Given the description of an element on the screen output the (x, y) to click on. 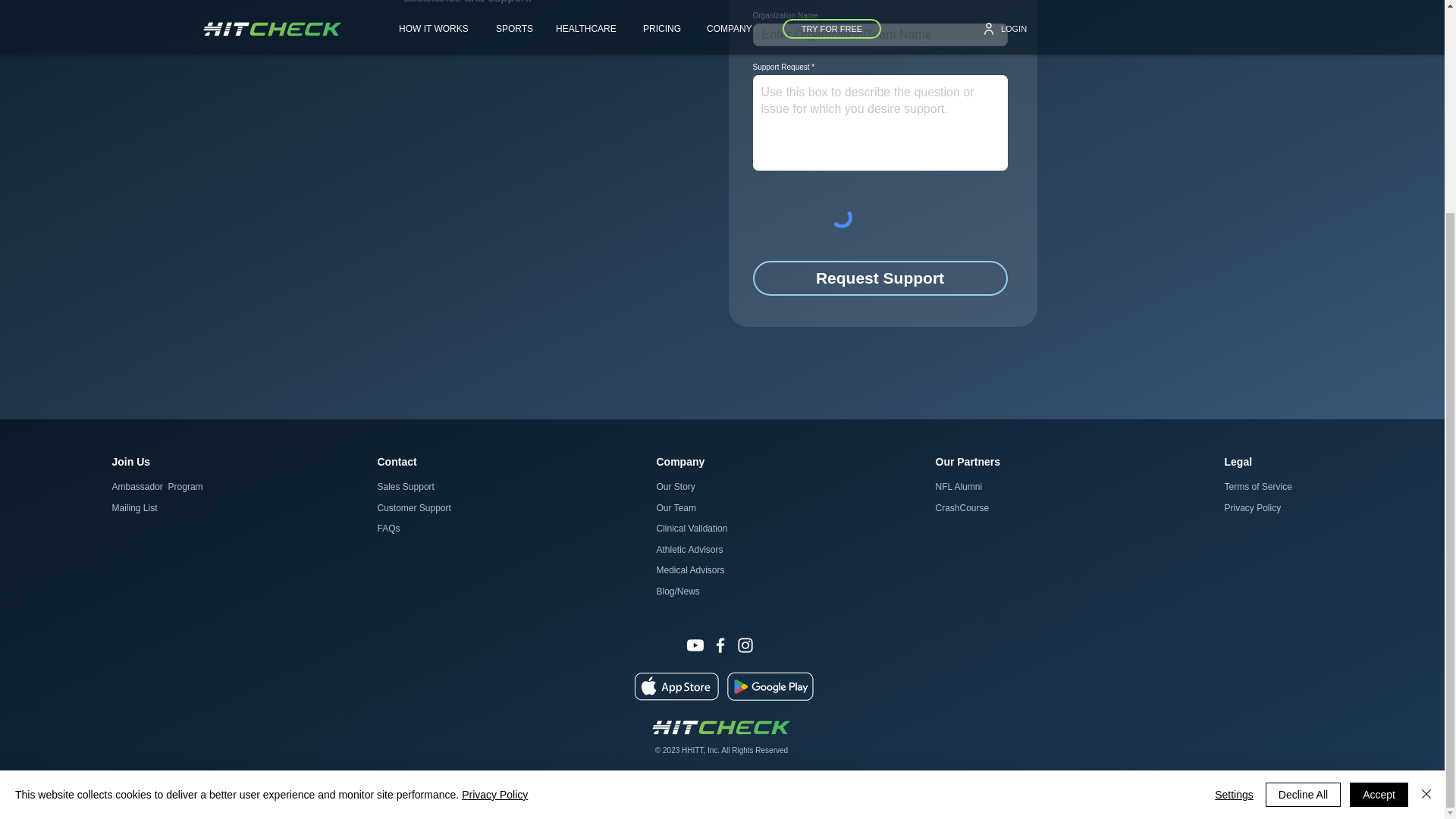
Decline All (1302, 516)
NFL Alumni (959, 486)
Mailing List (134, 507)
Terms of Service (1257, 486)
Accept (1378, 516)
Request Support (879, 278)
Our Story (675, 486)
Medical Advisors (690, 570)
Our Team (675, 507)
Clinical Validation (692, 528)
